Given the description of an element on the screen output the (x, y) to click on. 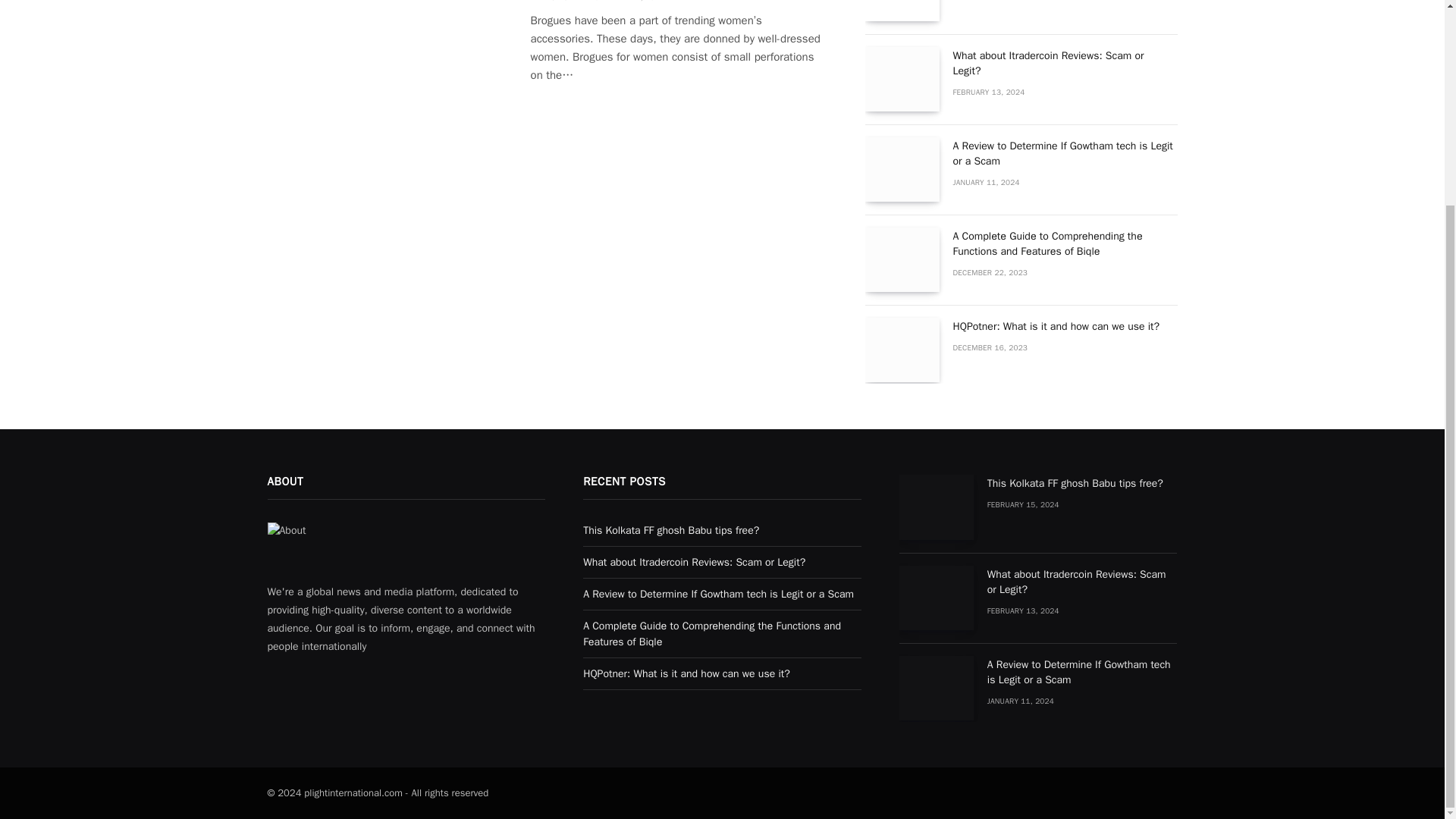
A Review to Determine If Gowtham tech is Legit or a Scam (901, 169)
This Kolkata FF ghosh Babu tips free? (901, 10)
ZESTFUL (556, 1)
HQPotner: What is it and how can we use it? (901, 349)
A Review to Determine If Gowtham tech is Legit or a Scam (936, 688)
This Kolkata FF ghosh Babu tips free? (936, 506)
Posts by zestful (556, 1)
